Given the description of an element on the screen output the (x, y) to click on. 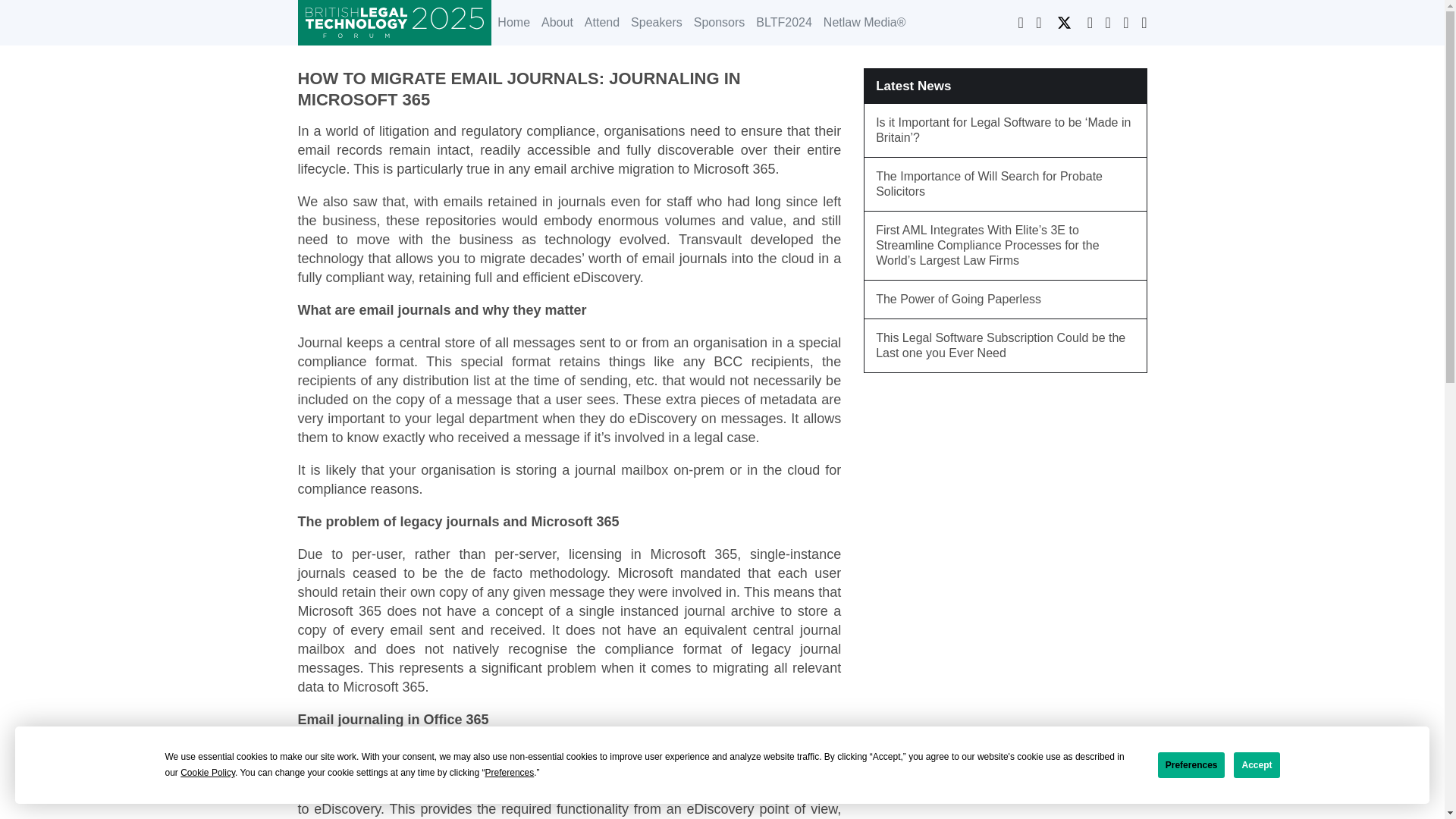
The Importance of Will Search for Probate Solicitors (1004, 184)
Sponsors (719, 22)
BLTF2024 (782, 22)
Home (513, 22)
Preferences (1191, 765)
Speakers (655, 22)
Accept (1256, 765)
About (556, 22)
Attend (601, 22)
